Given the description of an element on the screen output the (x, y) to click on. 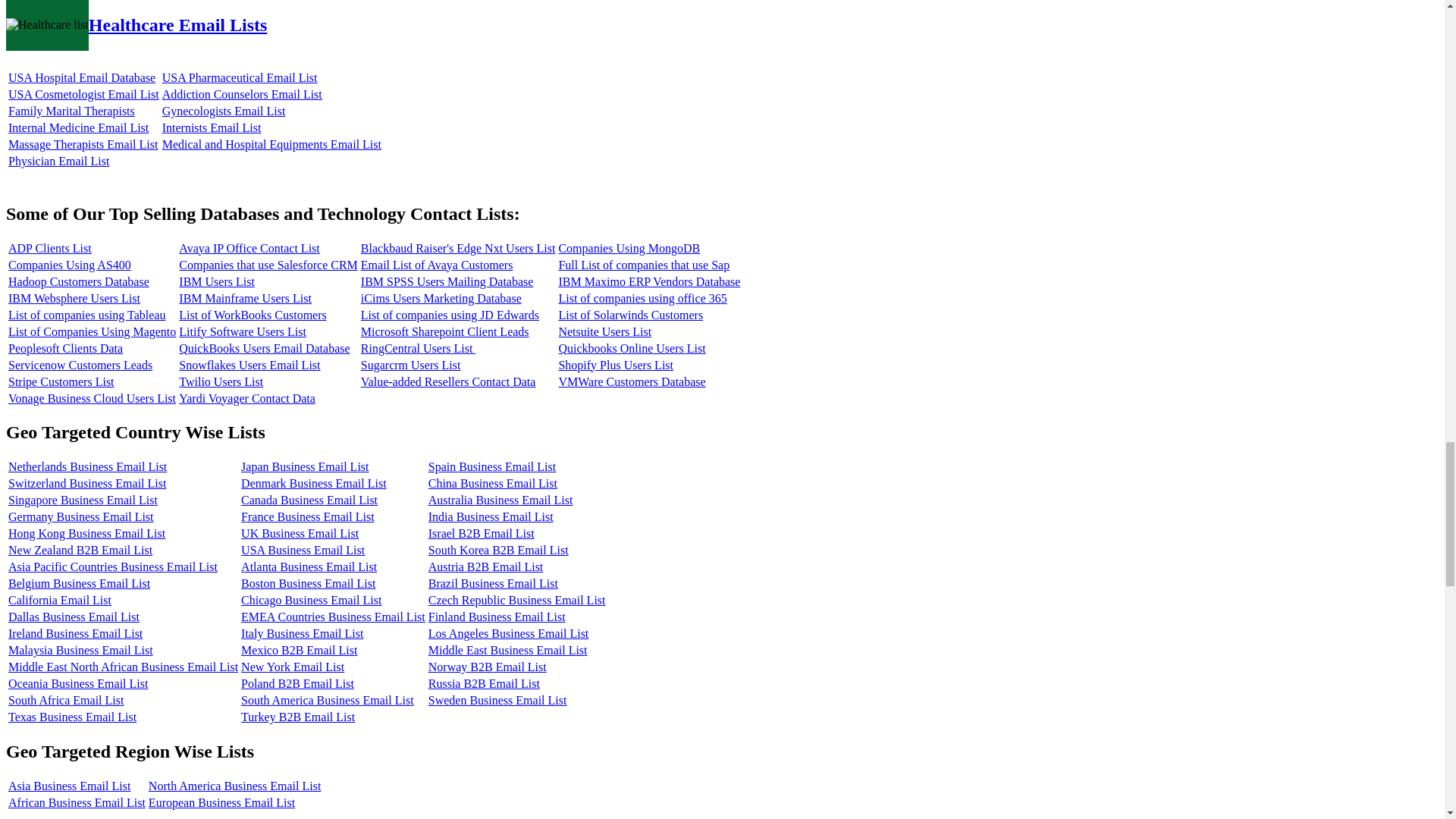
Avaya IP Office Contact List (248, 247)
Email List of Avaya Customers (437, 264)
IBM Websphere Users List (73, 297)
Blackbaud Raiser's Edge Nxt Users List (458, 247)
Companies Using AS400 (69, 264)
IBM Maximo ERP Vendors Database (648, 281)
ADP Clients List (49, 247)
Full List of Companies that use Sap (643, 264)
Hadoop Customers Database (78, 281)
Companies that use Salesforce CRM (268, 264)
IBM Users List (216, 281)
IBM SPSS Users Email List (447, 281)
IBM Mainframe Users Email List (245, 297)
Healthcare list (46, 24)
Companies Using MongoDB (628, 247)
